Given the description of an element on the screen output the (x, y) to click on. 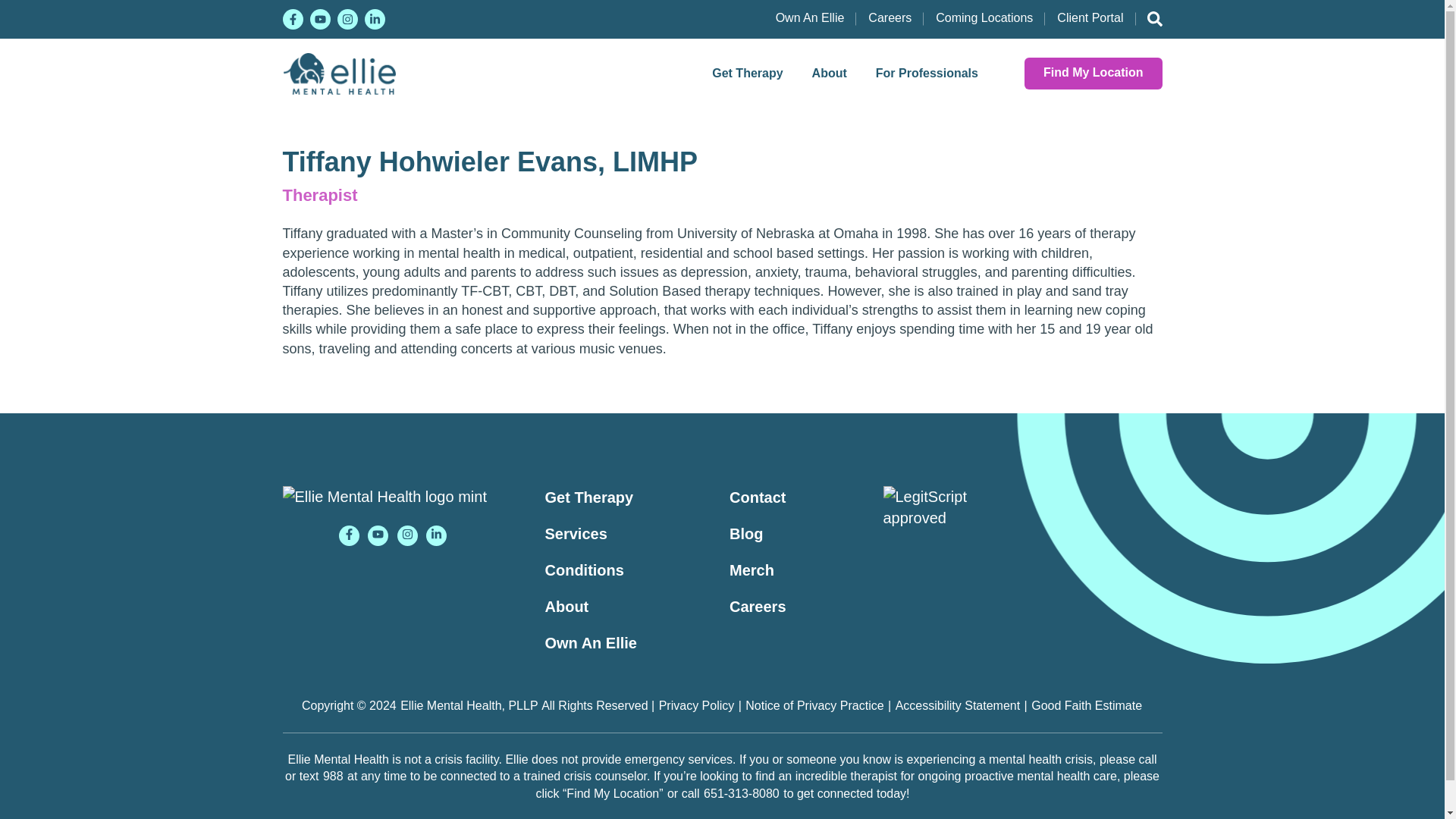
Instagram (346, 19)
Own An Ellie (809, 18)
Careers (889, 18)
Client Portal (1090, 18)
Search (1148, 20)
LinkedIn (374, 19)
Get Therapy (746, 73)
Coming Locations (984, 18)
Facebook (292, 19)
YouTube (378, 535)
